Given the description of an element on the screen output the (x, y) to click on. 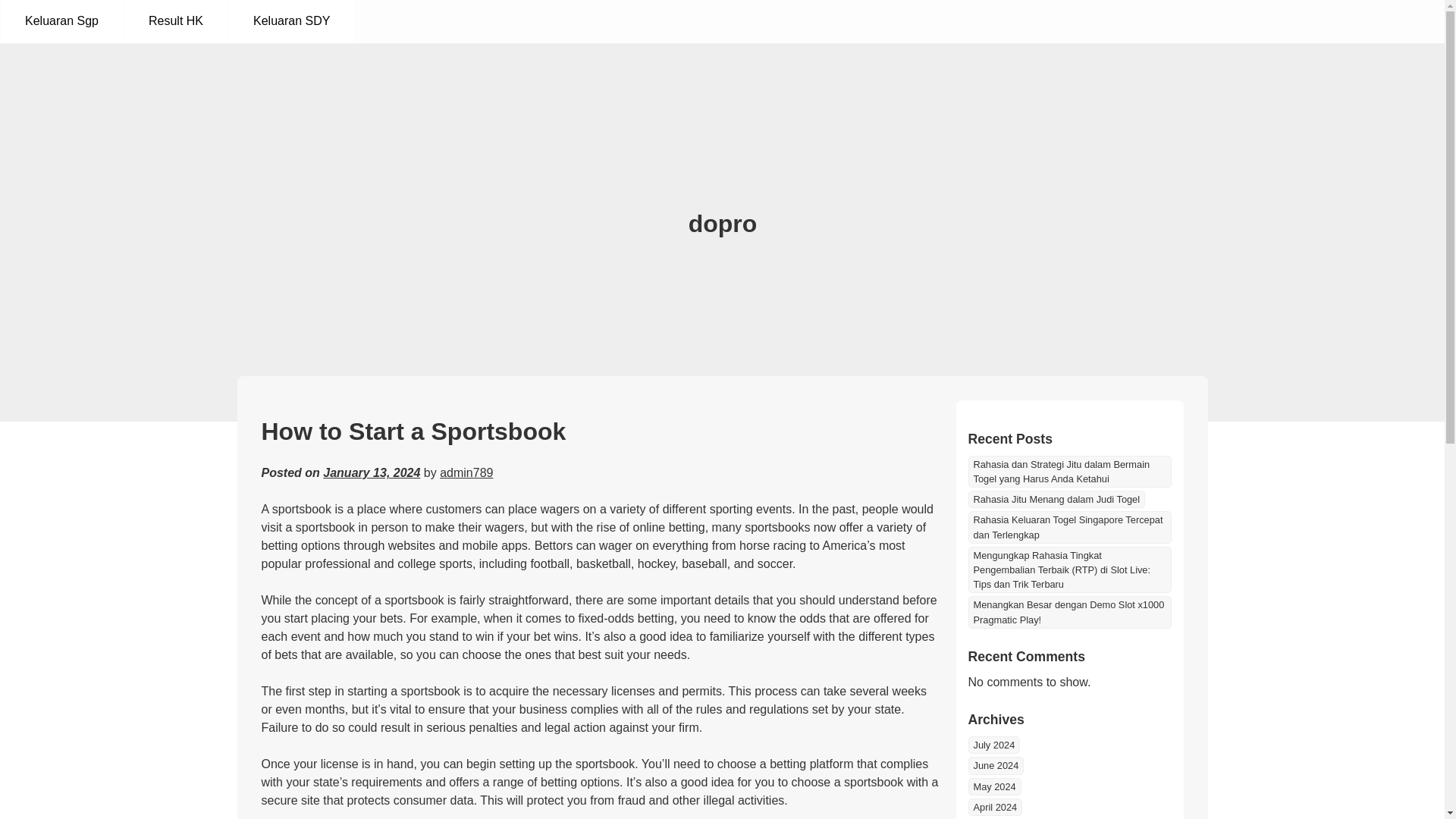
April 2024 (995, 806)
Menangkan Besar dengan Demo Slot x1000 Pragmatic Play! (1069, 612)
January 13, 2024 (371, 472)
May 2024 (994, 786)
Keluaran Sgp (61, 21)
admin789 (466, 472)
July 2024 (994, 744)
Rahasia Keluaran Togel Singapore Tercepat dan Terlengkap (1069, 526)
Keluaran SDY (290, 21)
Result HK (175, 21)
June 2024 (995, 764)
Rahasia Jitu Menang dalam Judi Togel (1056, 498)
